Given the description of an element on the screen output the (x, y) to click on. 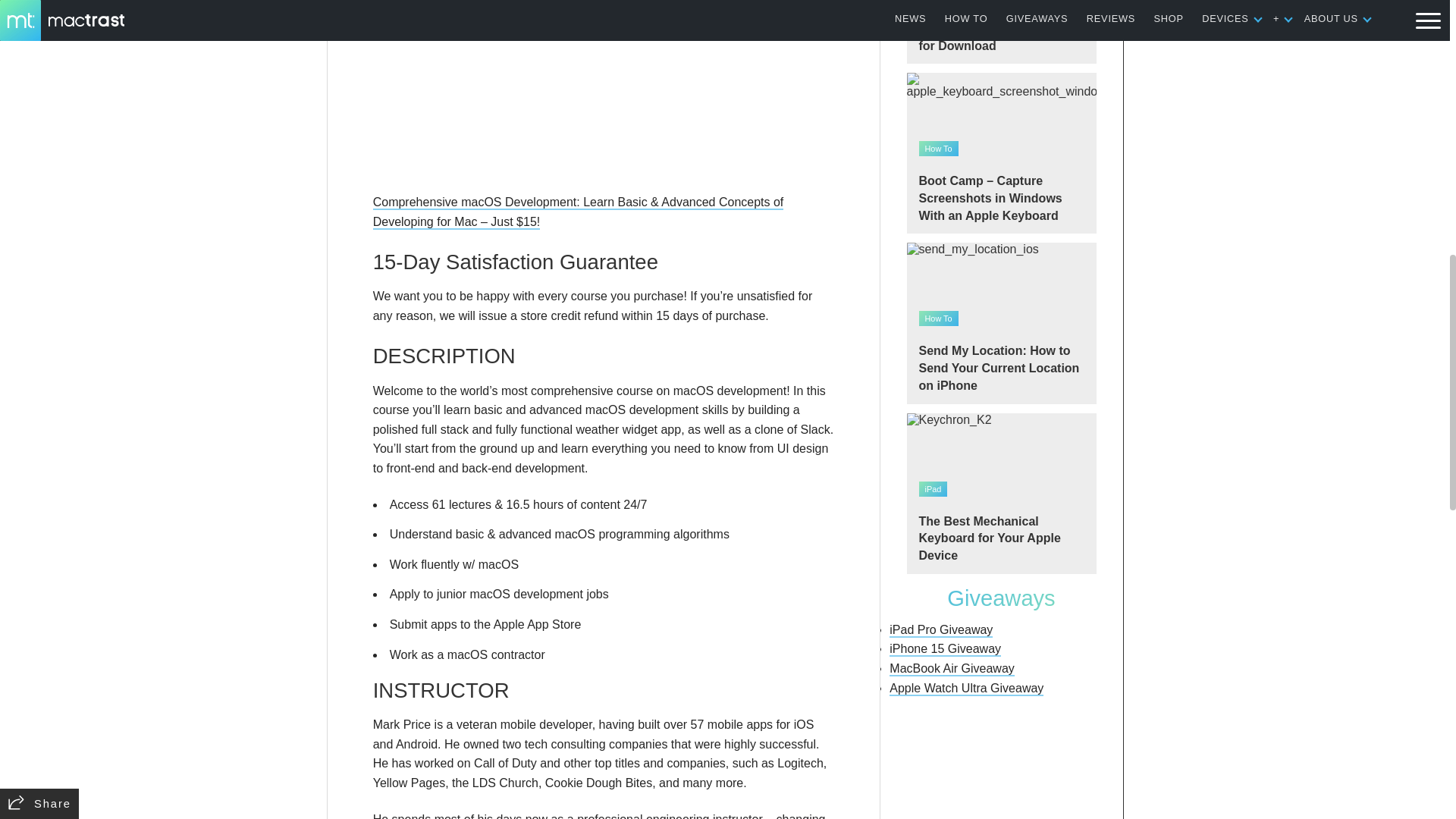
iPhone XS and XS Max Wallpapers in High Quality for Download (1001, 31)
The Best Mechanical Keyboard for Your Apple Device (1001, 493)
